Given the description of an element on the screen output the (x, y) to click on. 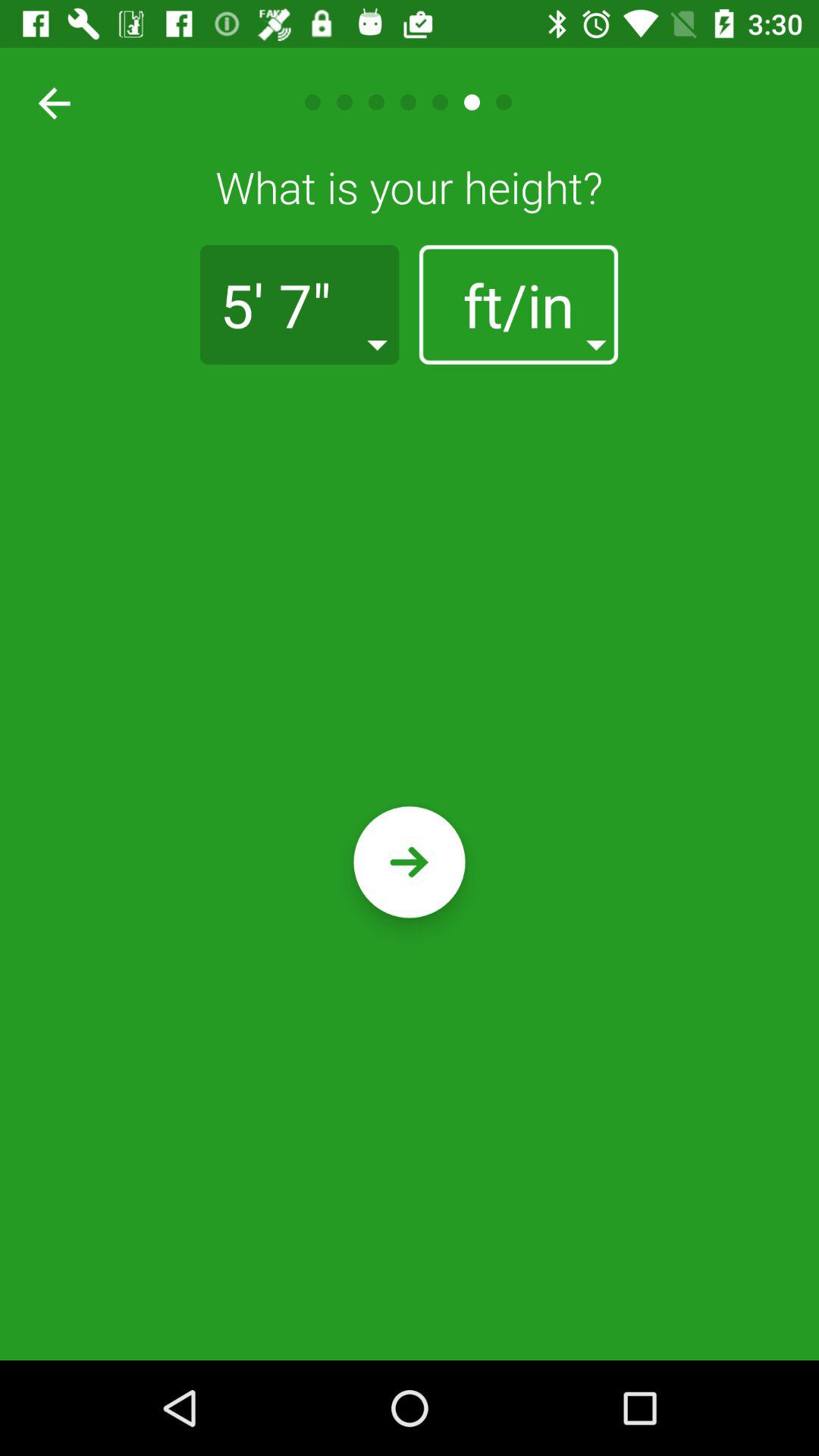
enter confirm (409, 861)
